Given the description of an element on the screen output the (x, y) to click on. 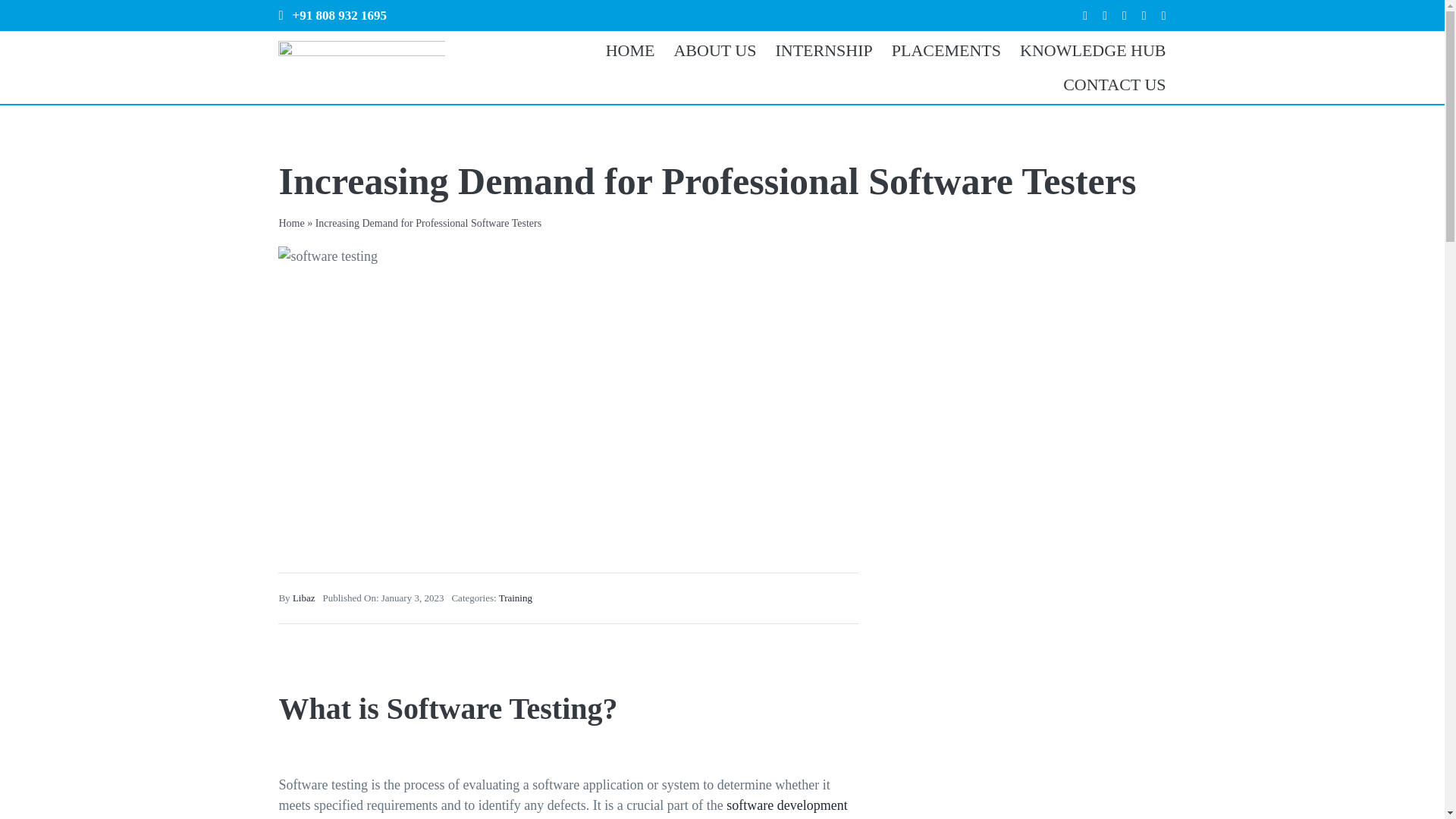
Softloom (620, 50)
ABOUT US (704, 50)
Posts by Libaz (303, 597)
HOME (620, 50)
INTERNSHIP (813, 50)
